Given the description of an element on the screen output the (x, y) to click on. 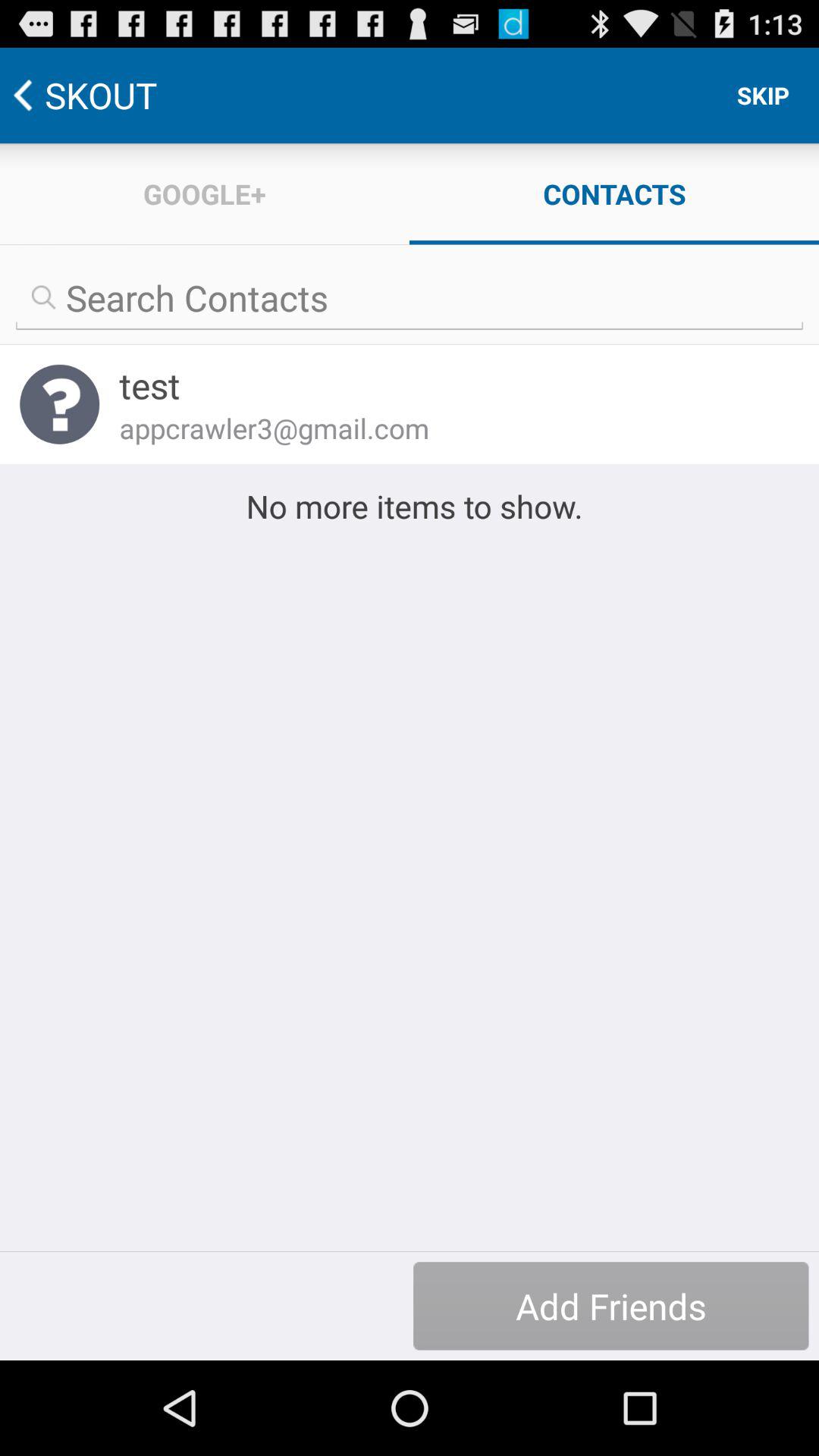
swipe until appcrawler3@gmail.com item (449, 428)
